Given the description of an element on the screen output the (x, y) to click on. 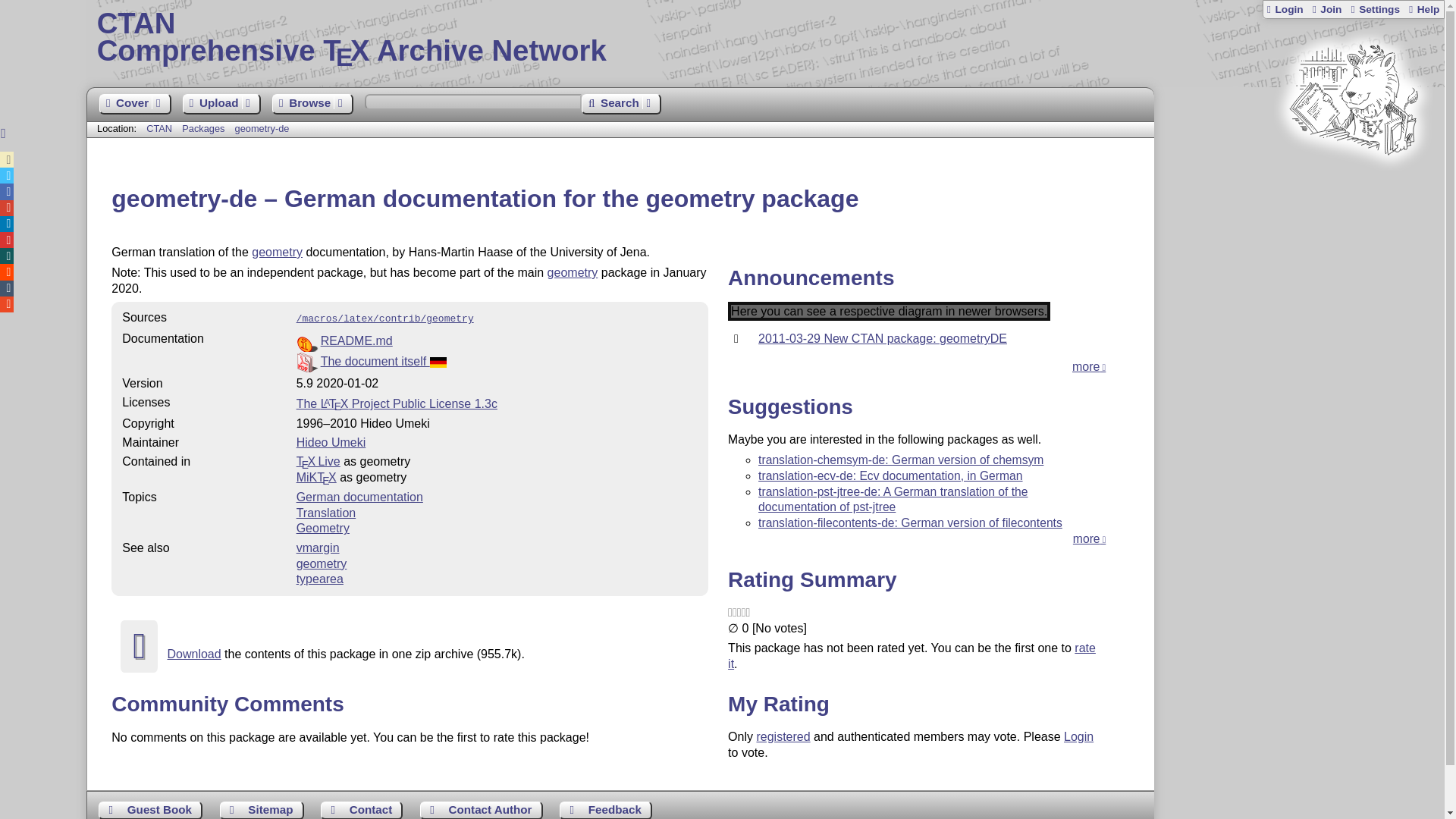
Adjust the appearance to your taste (1374, 8)
Browse (312, 104)
Spectrum indicating the announcements for the package (888, 311)
Register a new personal account on this site (1325, 8)
CTAN (159, 128)
Login (1284, 8)
The LATEX Project Public License 1.3c (397, 403)
CTAN lion drawing by Duane Bibby (1353, 183)
Cover (134, 104)
Get contact information for the Web site (361, 810)
Login with your personal account (1284, 8)
The document itself (383, 360)
geometry (572, 272)
Packages (204, 128)
